Given the description of an element on the screen output the (x, y) to click on. 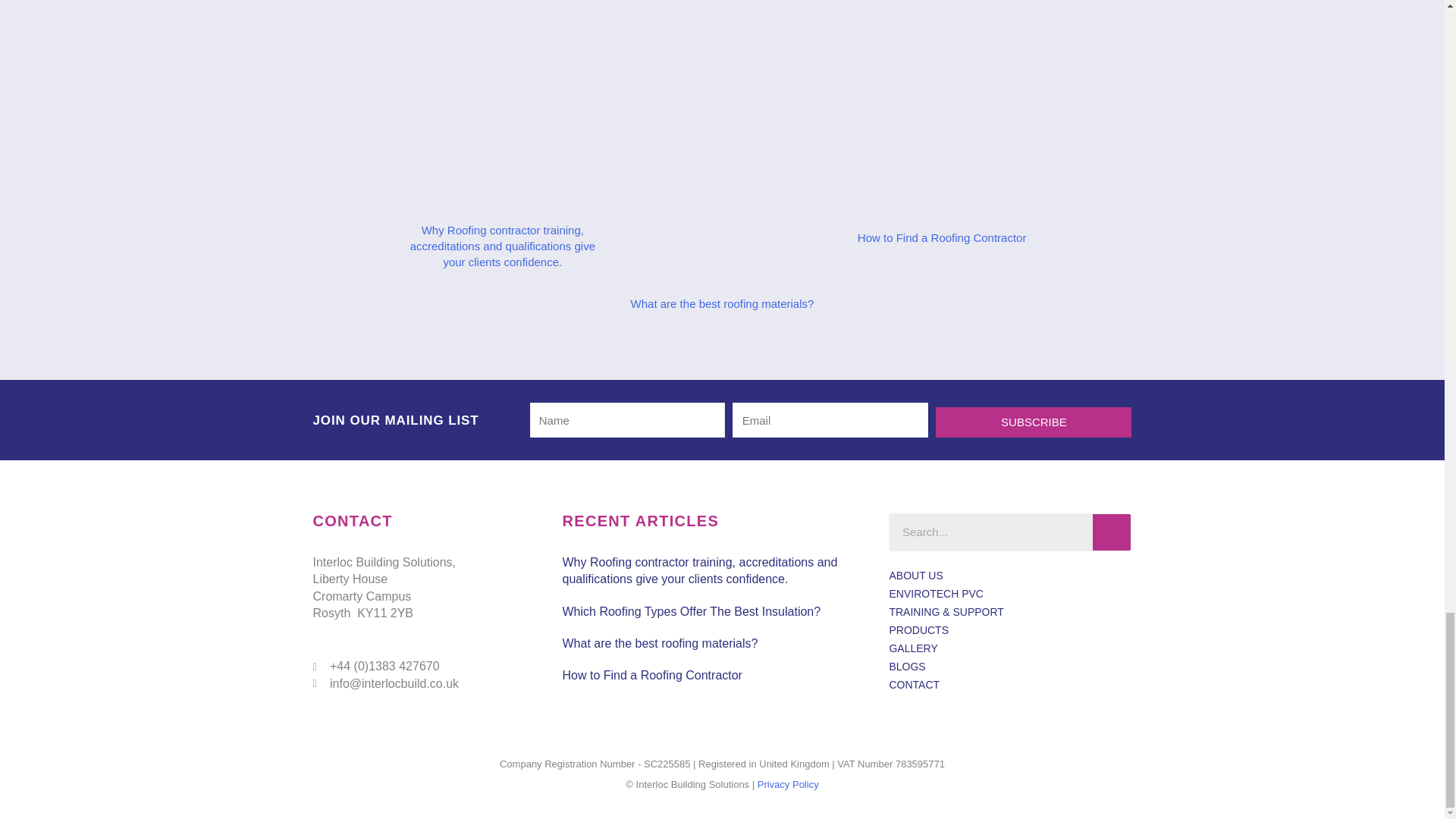
What are the best roofing materials? (721, 303)
GALLERY (1009, 648)
How to Find a Roofing Contractor (941, 237)
ABOUT US (1009, 575)
ENVIROTECH PVC (1009, 593)
How to Find a Roofing Contractor (652, 675)
What are the best roofing materials? (660, 643)
Search (1112, 532)
BLOGS (1009, 666)
